Given the description of an element on the screen output the (x, y) to click on. 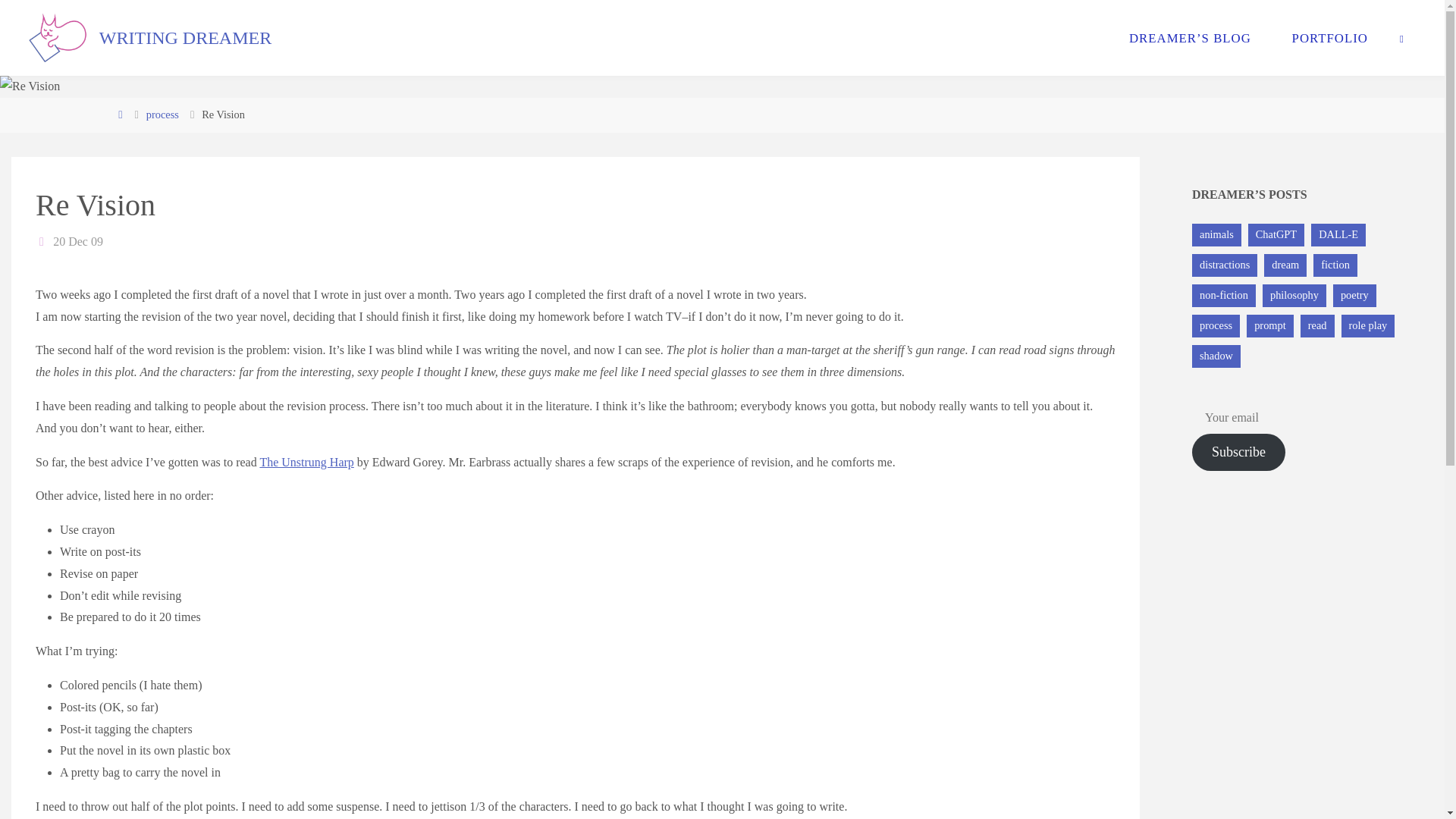
animals (1216, 234)
PORTFOLIO (1330, 38)
read (1317, 325)
WRITING DREAMER (184, 37)
poetry (1354, 295)
distractions (1224, 264)
prompt (1270, 325)
fiction (1334, 264)
Date (41, 241)
The Unstrung Harp (306, 461)
DALL-E (1338, 234)
words and images by mk swanson (184, 37)
non-fiction (1223, 295)
process (1216, 325)
dream (1284, 264)
